Given the description of an element on the screen output the (x, y) to click on. 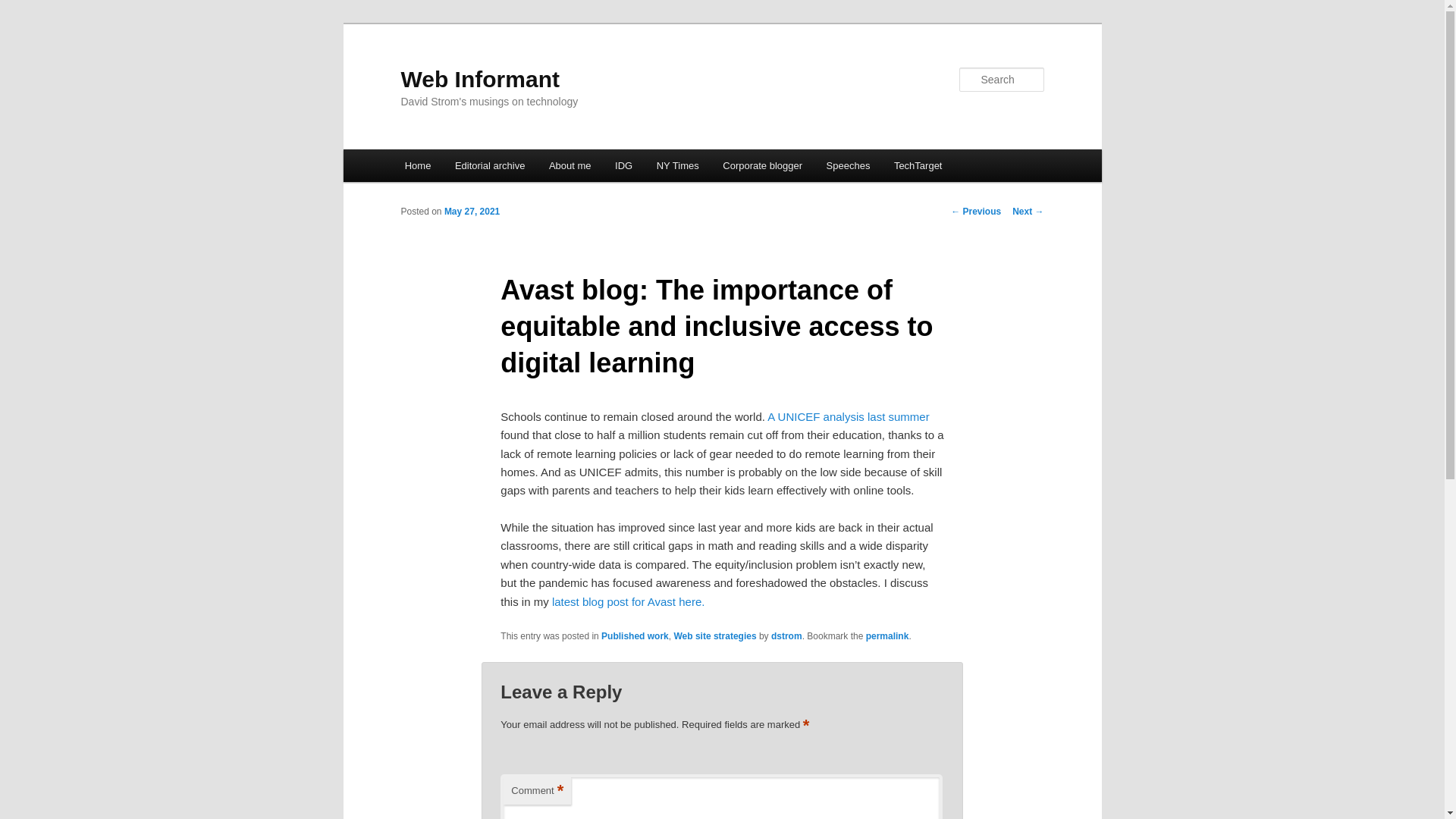
TechTarget (917, 165)
NY Times (678, 165)
May 27, 2021 (471, 211)
6:09 am (471, 211)
IDG (623, 165)
Published work (634, 635)
Speeches (847, 165)
dstrom (786, 635)
About me (569, 165)
permalink (887, 635)
